Given the description of an element on the screen output the (x, y) to click on. 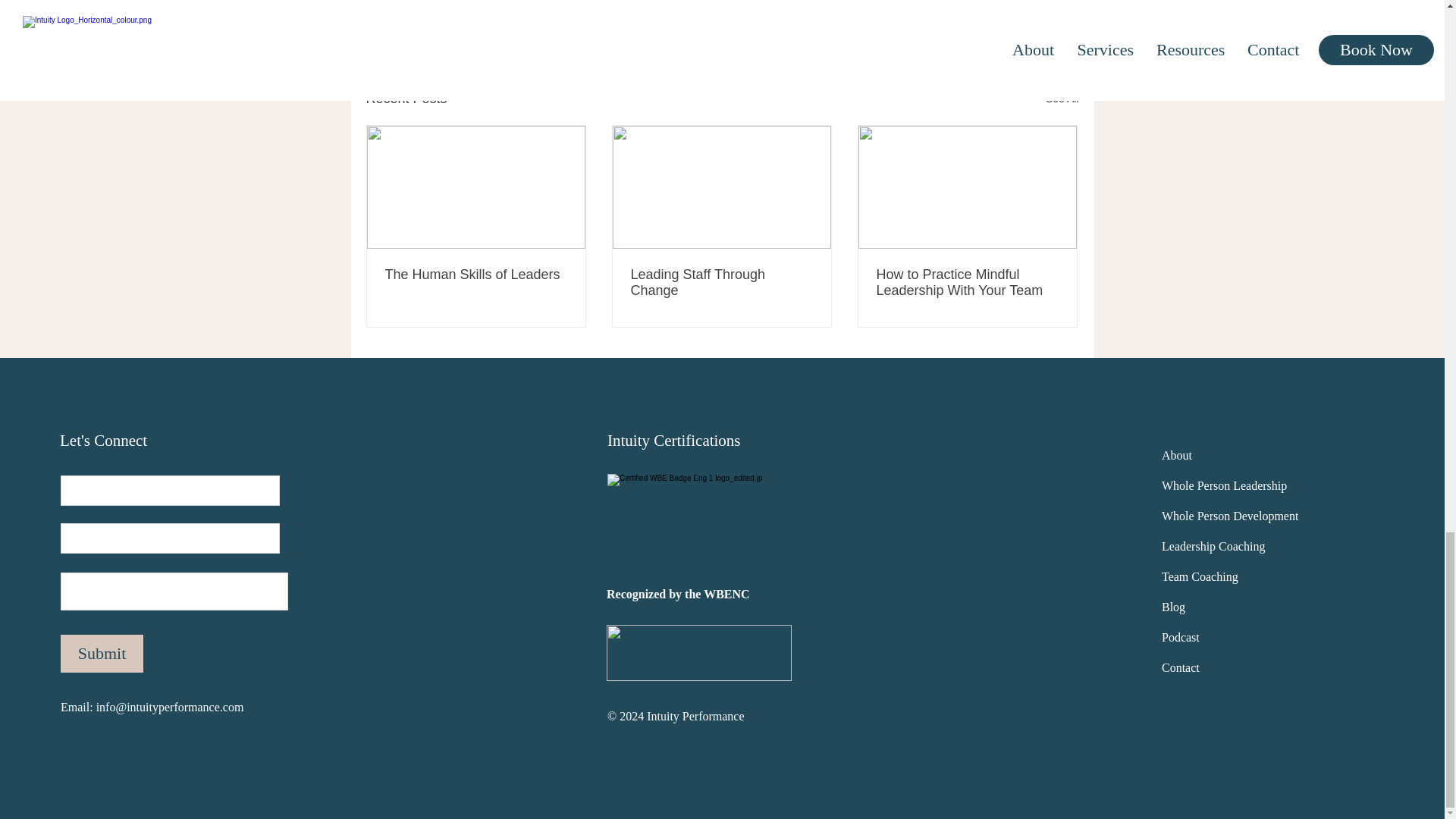
See All (1061, 98)
Human Skills (882, 3)
Leading Staff Through Change (721, 282)
The Human Skills of Leaders (476, 274)
Leadership (808, 3)
Communication (965, 3)
Certified WBE Badge Eng 1 logo.jpeg (699, 525)
ICF Coachs logo.jpg (699, 652)
